Given the description of an element on the screen output the (x, y) to click on. 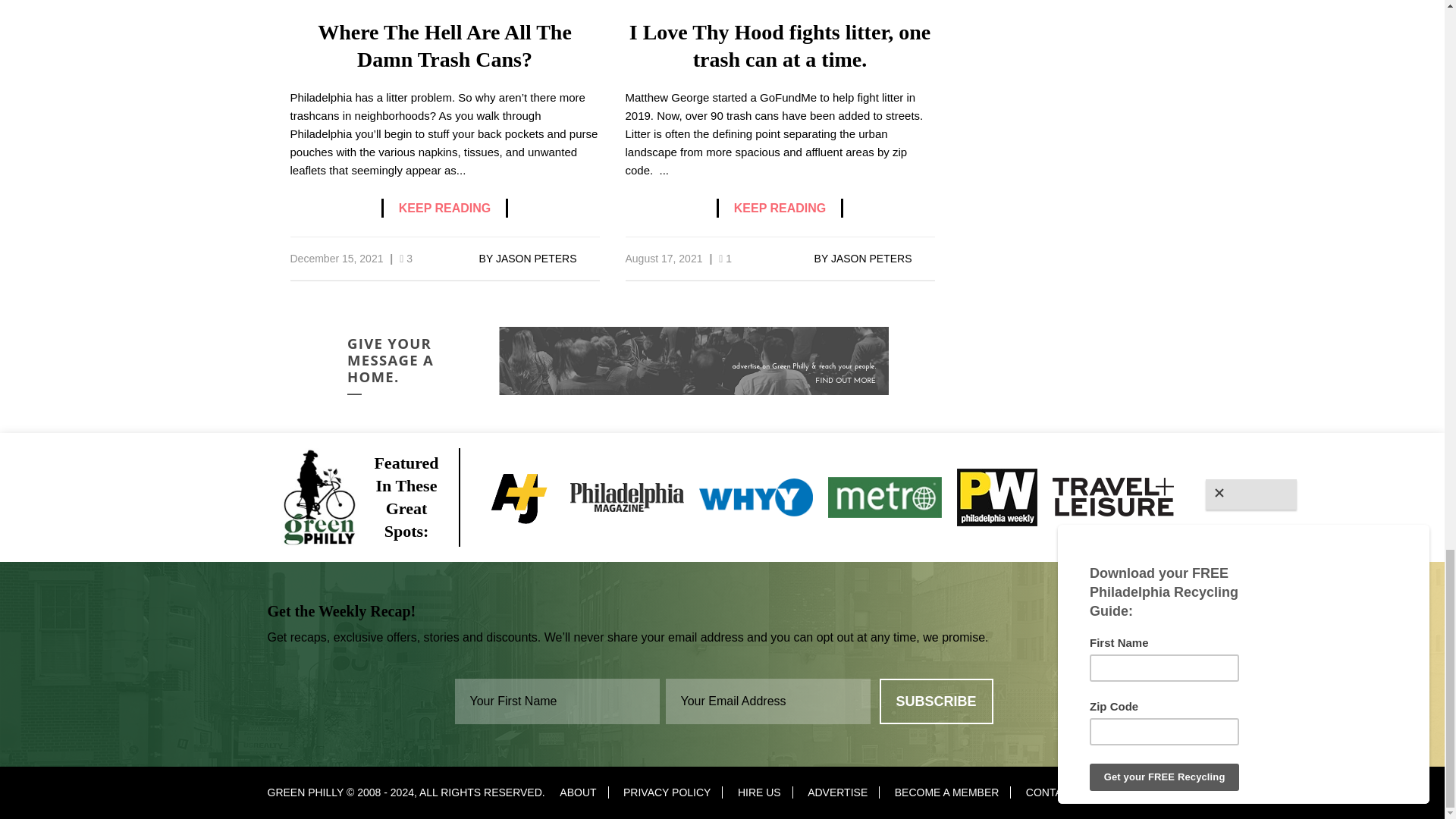
Subscribe (935, 700)
